Given the description of an element on the screen output the (x, y) to click on. 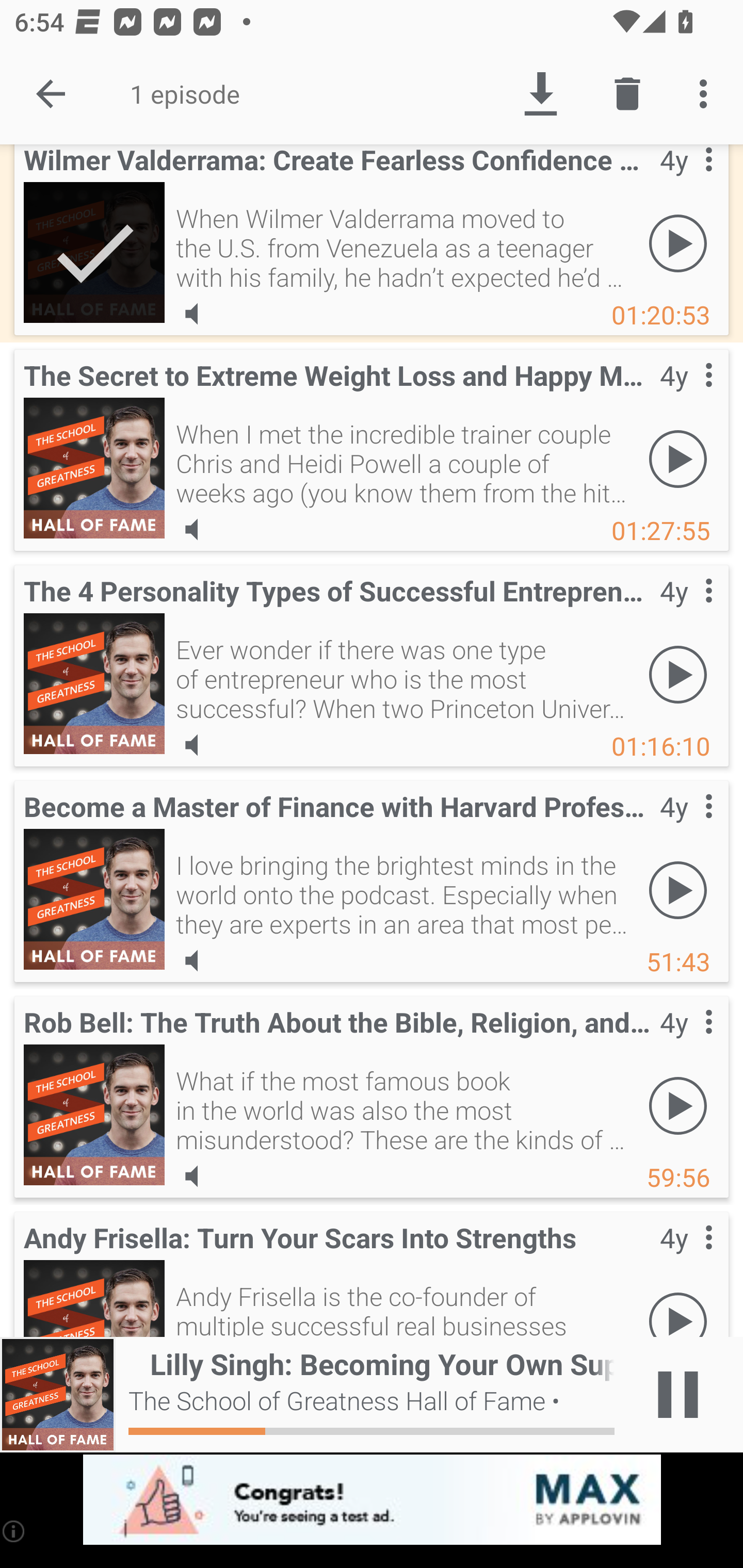
Done (50, 93)
Download (540, 93)
Delete episode (626, 93)
More options (706, 93)
Contextual menu (685, 183)
Play (677, 243)
Contextual menu (685, 395)
Play (677, 459)
Contextual menu (685, 611)
Play (677, 674)
Contextual menu (685, 827)
Play (677, 890)
Contextual menu (685, 1042)
Play (677, 1106)
Contextual menu (685, 1258)
Andy Frisella: Turn Your Scars Into Strengths (93, 1298)
Play (677, 1304)
Play / Pause (677, 1394)
app-monetization (371, 1500)
(i) (14, 1531)
